Given the description of an element on the screen output the (x, y) to click on. 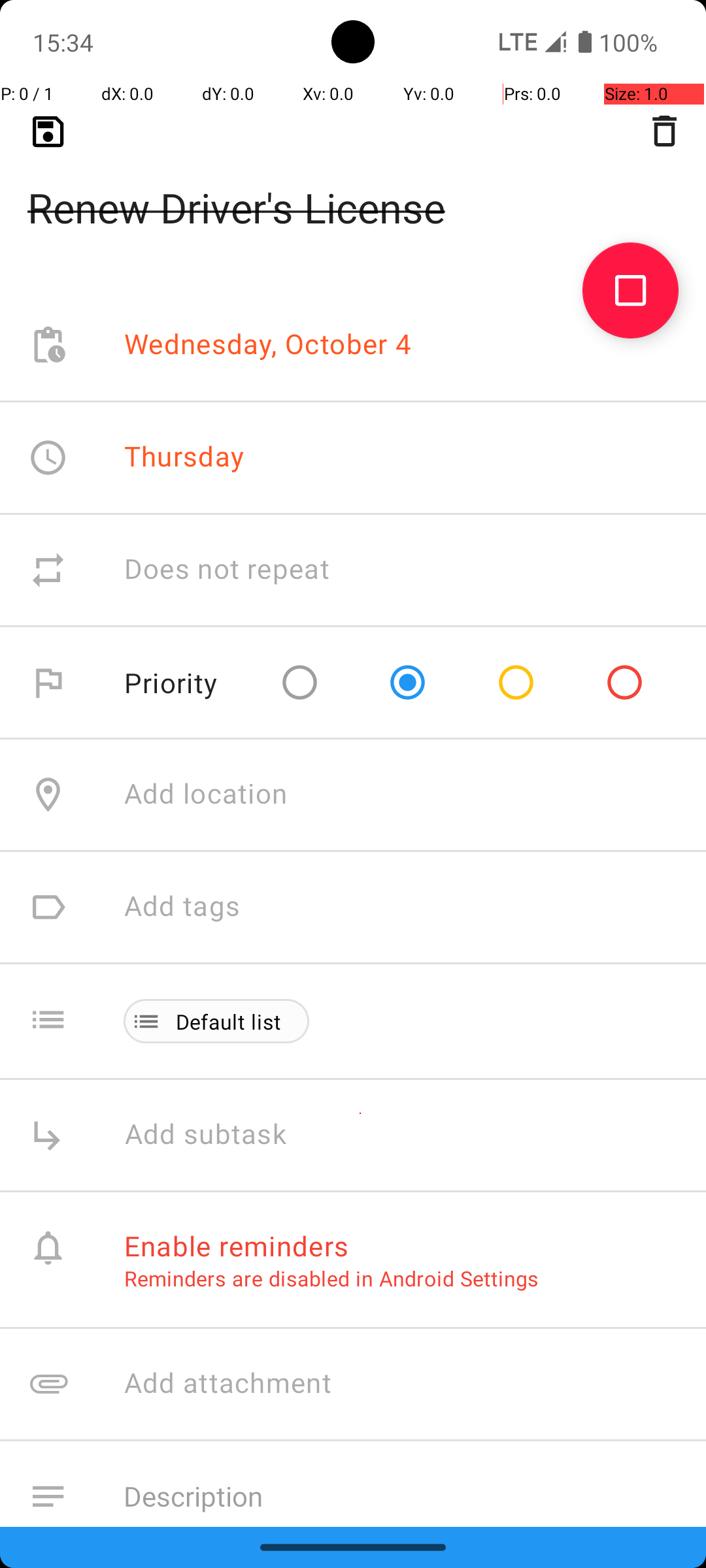
Wednesday, October 4 Element type: android.widget.TextView (267, 344)
